Given the description of an element on the screen output the (x, y) to click on. 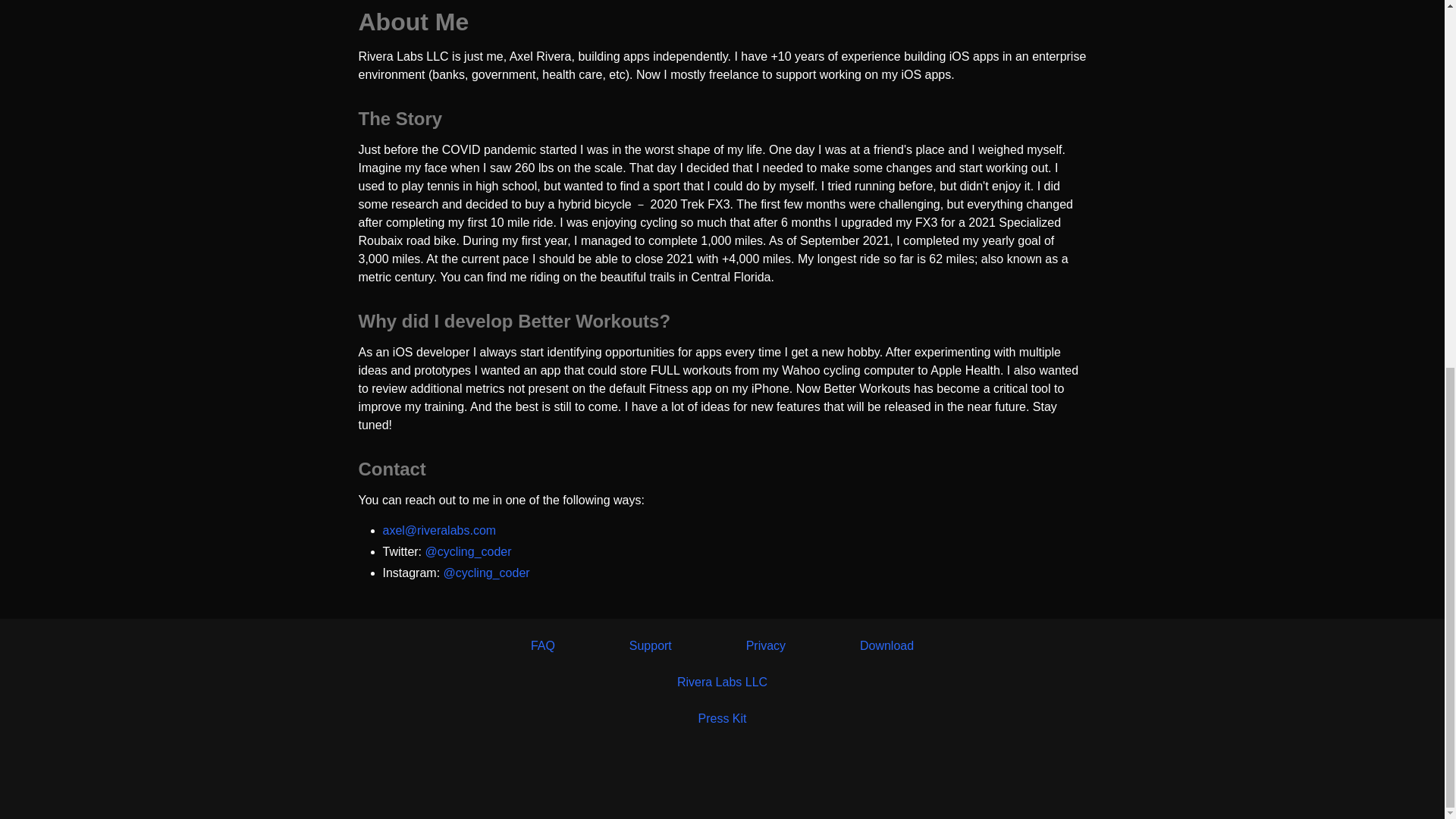
Rivera Labs LLC (722, 681)
Download (887, 646)
Press Kit (721, 717)
Privacy (765, 646)
Support (649, 646)
FAQ (542, 646)
